Given the description of an element on the screen output the (x, y) to click on. 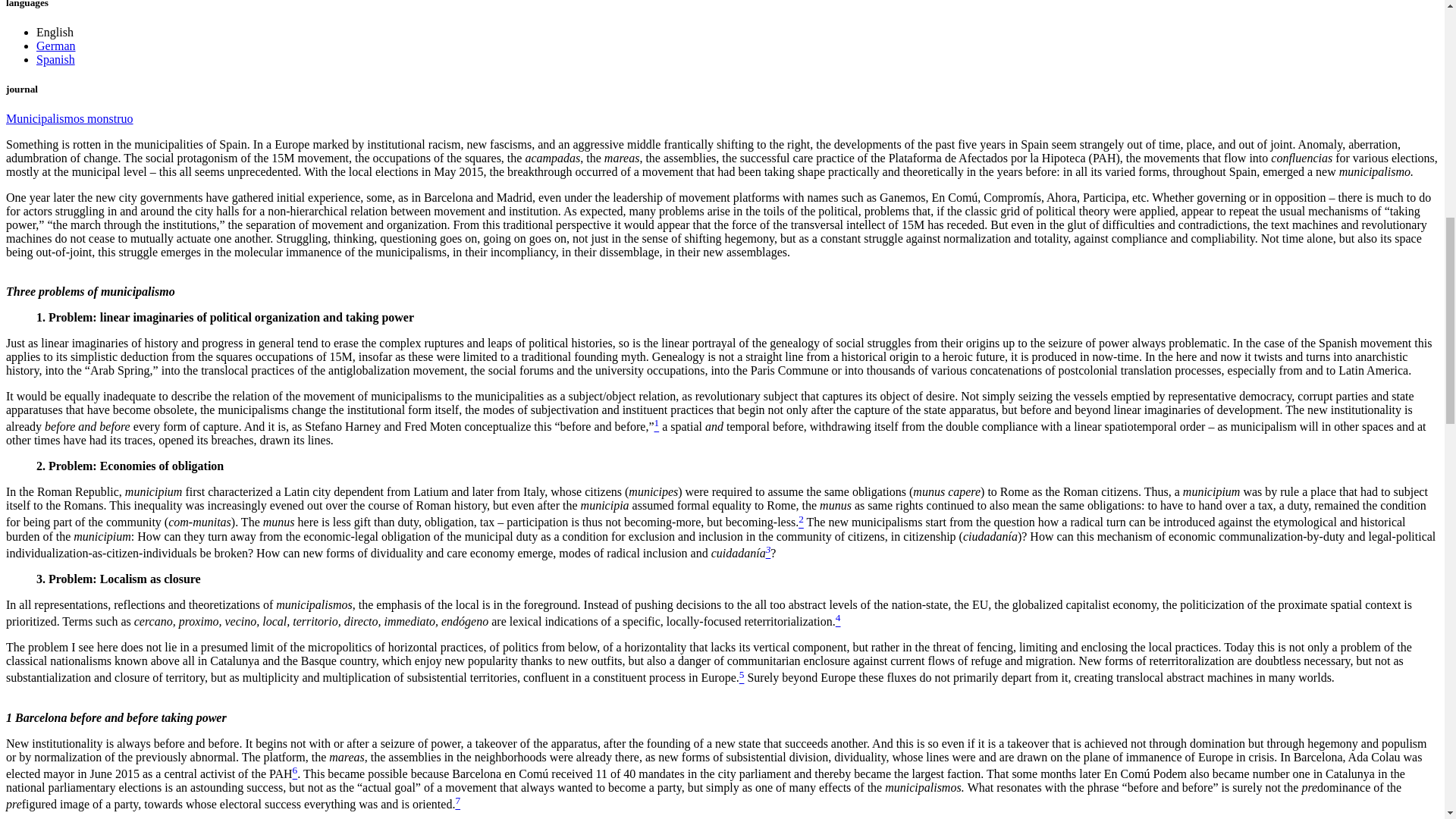
Spanish (55, 59)
German (55, 45)
Municipalismos monstruo (69, 118)
